Given the description of an element on the screen output the (x, y) to click on. 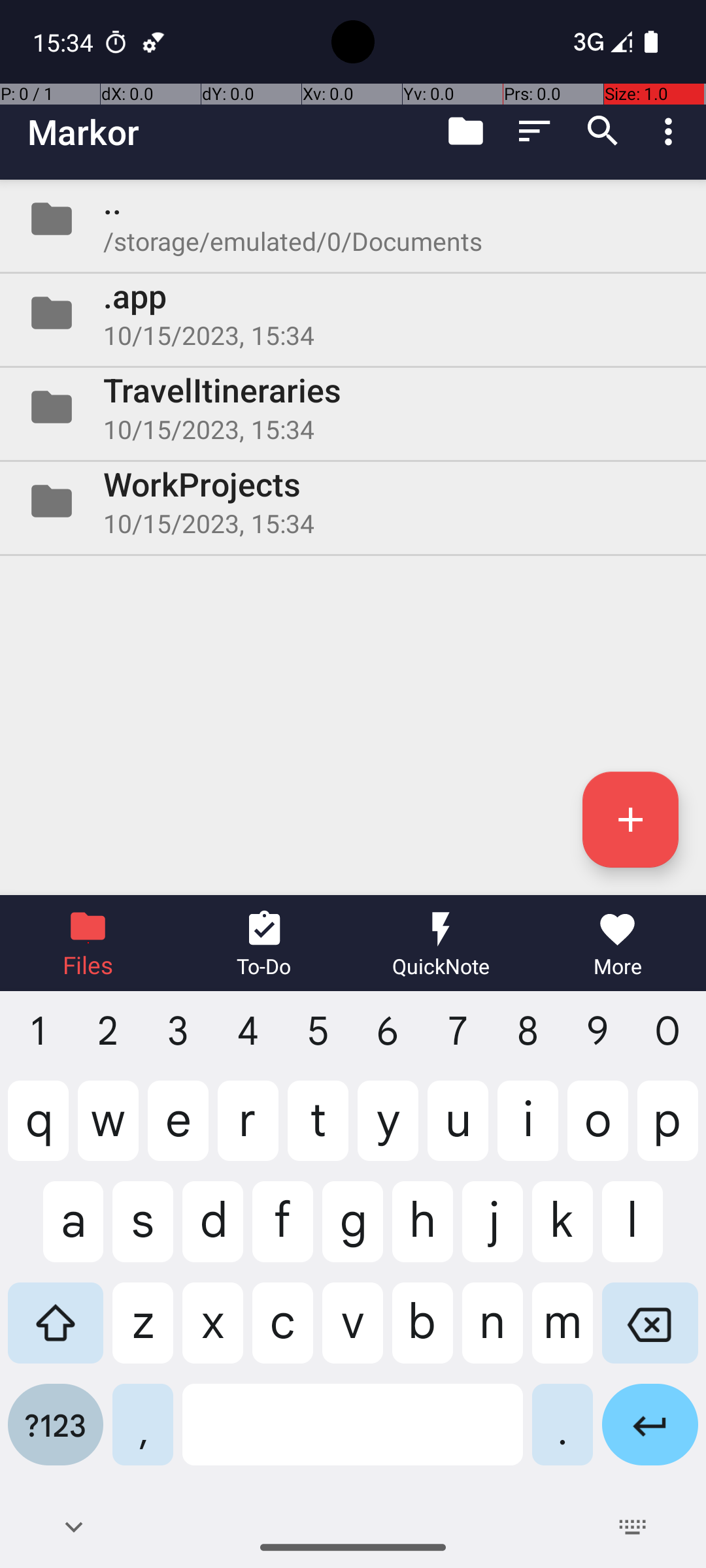
Folder .. /storage/emulated/0/Documents/markor Element type: android.widget.LinearLayout (353, 218)
Folder .app 10/15/2023, 15:34 Element type: android.widget.LinearLayout (353, 312)
Folder TravelItineraries 10/15/2023, 15:34 Element type: android.widget.LinearLayout (353, 406)
Folder WorkProjects  Element type: android.widget.LinearLayout (353, 500)
